Given the description of an element on the screen output the (x, y) to click on. 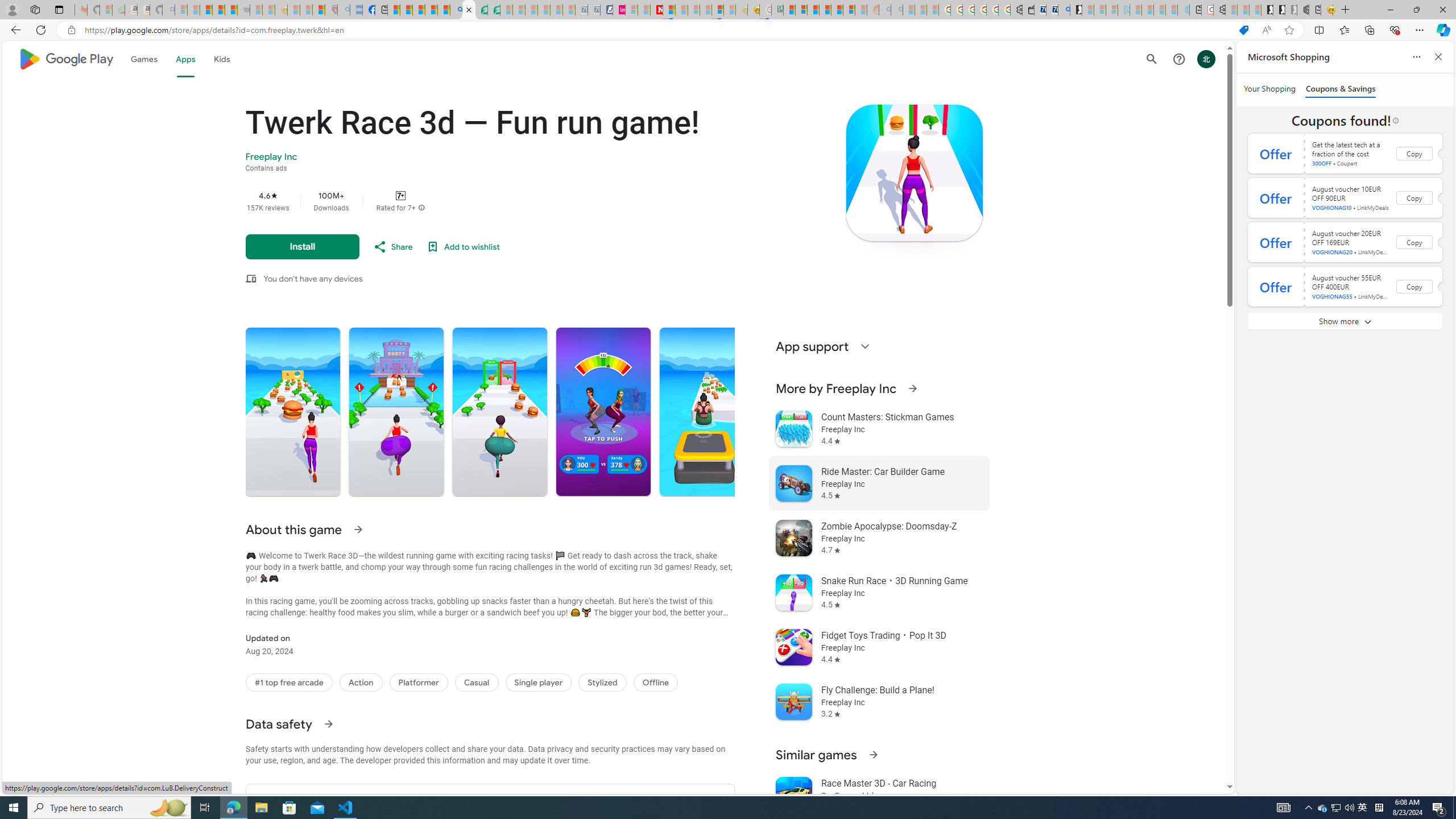
Stylized (602, 682)
Class: ULeU3b Utde2e (706, 412)
You don't have any devices (312, 278)
